Given the description of an element on the screen output the (x, y) to click on. 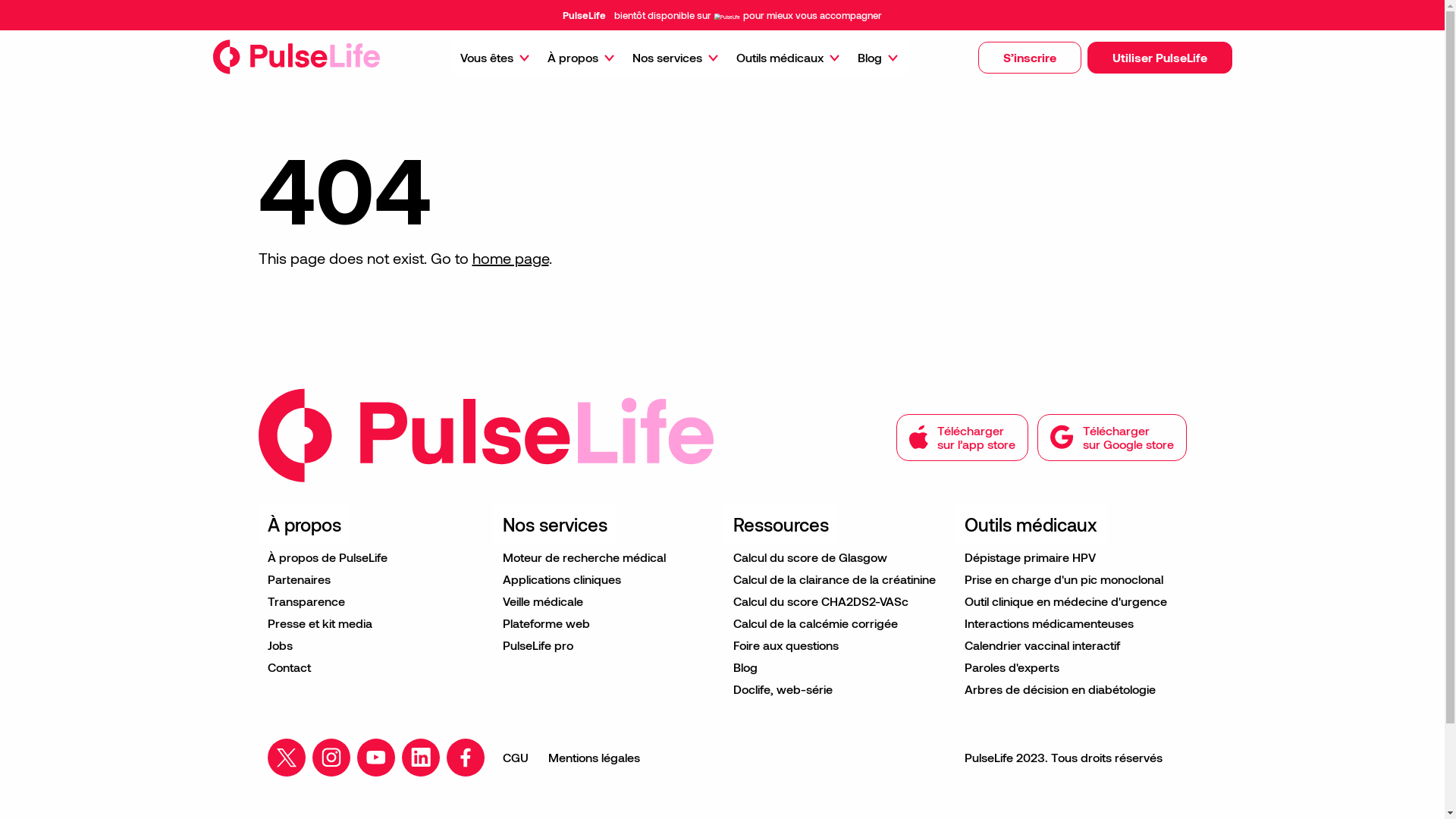
CGU Element type: text (514, 757)
Blog Element type: text (876, 57)
Foire aux questions Element type: text (839, 645)
Plateforme web Element type: text (608, 623)
Calcul du score de Glasgow Element type: text (839, 557)
Partenaires Element type: text (374, 579)
Transparence Element type: text (374, 601)
Blog Element type: text (839, 667)
Contact Element type: text (374, 667)
Presse et kit media Element type: text (374, 623)
Jobs Element type: text (374, 645)
Calcul du score CHA2DS2-VASc Element type: text (839, 601)
Paroles d'experts Element type: text (1070, 667)
Applications cliniques Element type: text (608, 579)
PulseLife pro Element type: text (608, 645)
Prise en charge d'un pic monoclonal Element type: text (1070, 579)
Calendrier vaccinal interactif Element type: text (1070, 645)
Utiliser PulseLife Element type: text (1158, 57)
home page Element type: text (509, 257)
